Given the description of an element on the screen output the (x, y) to click on. 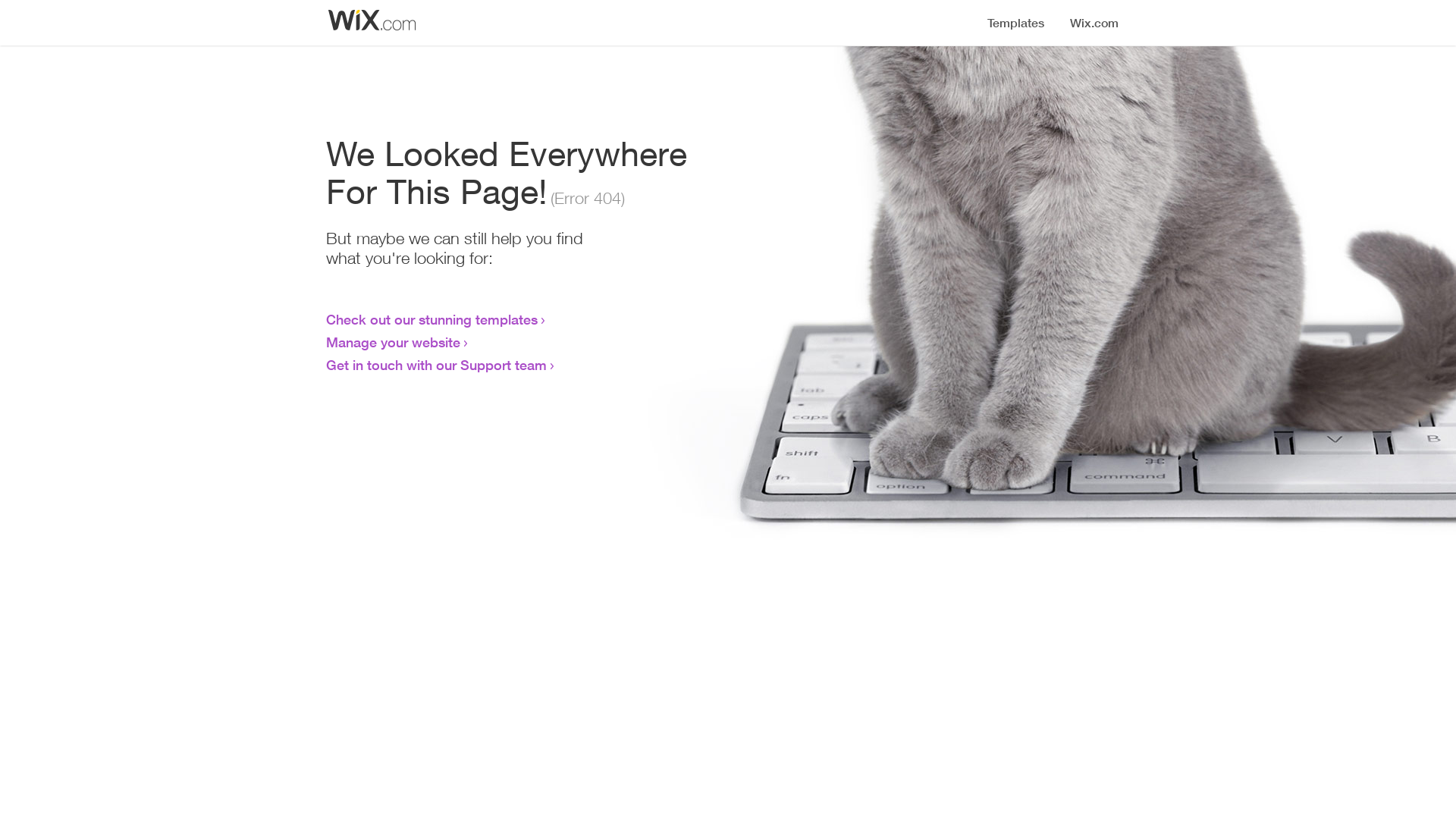
Check out our stunning templates Element type: text (431, 318)
Manage your website Element type: text (393, 341)
Get in touch with our Support team Element type: text (436, 364)
